Given the description of an element on the screen output the (x, y) to click on. 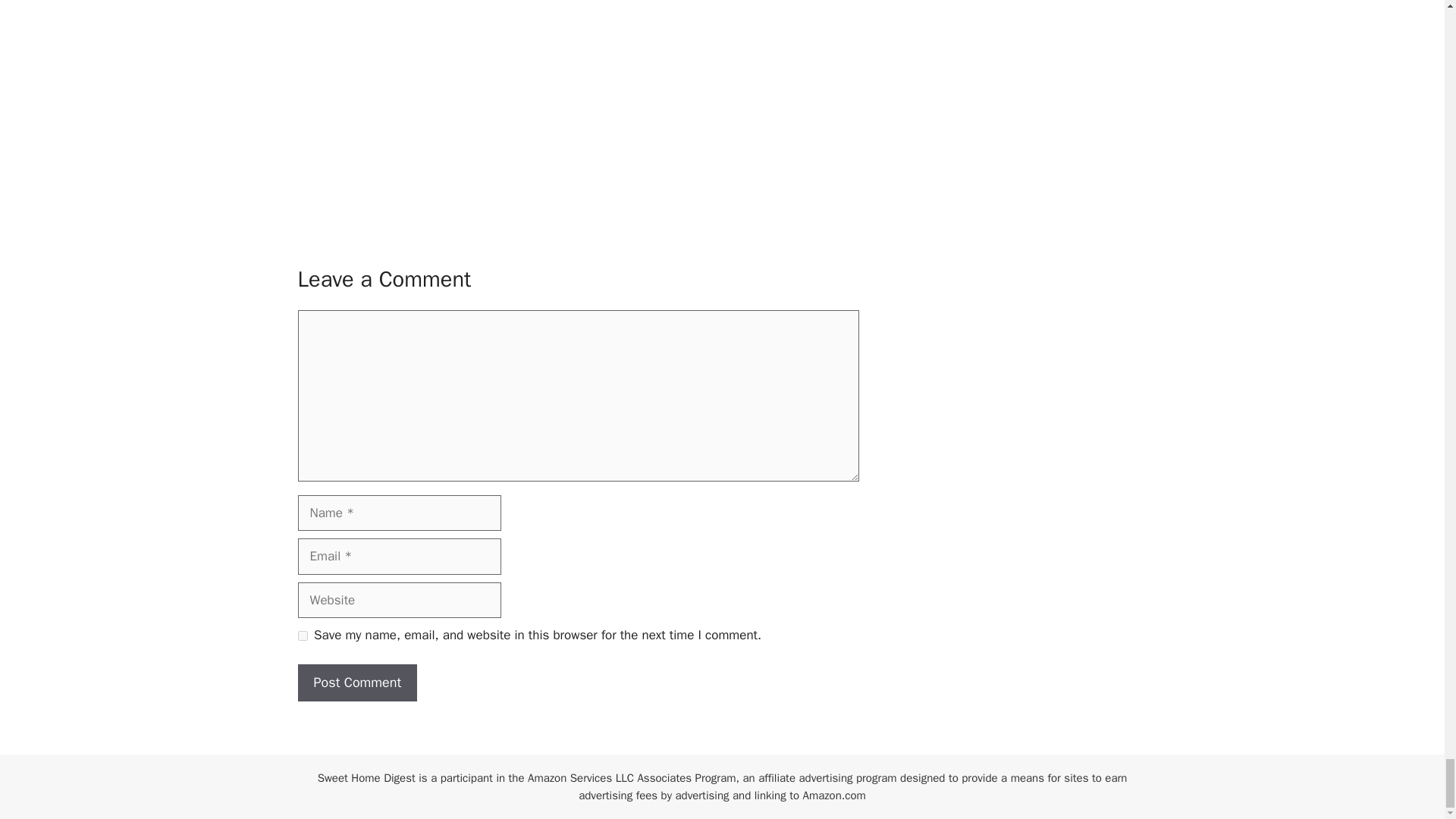
yes (302, 634)
Post Comment (356, 682)
Post Comment (356, 682)
